Given the description of an element on the screen output the (x, y) to click on. 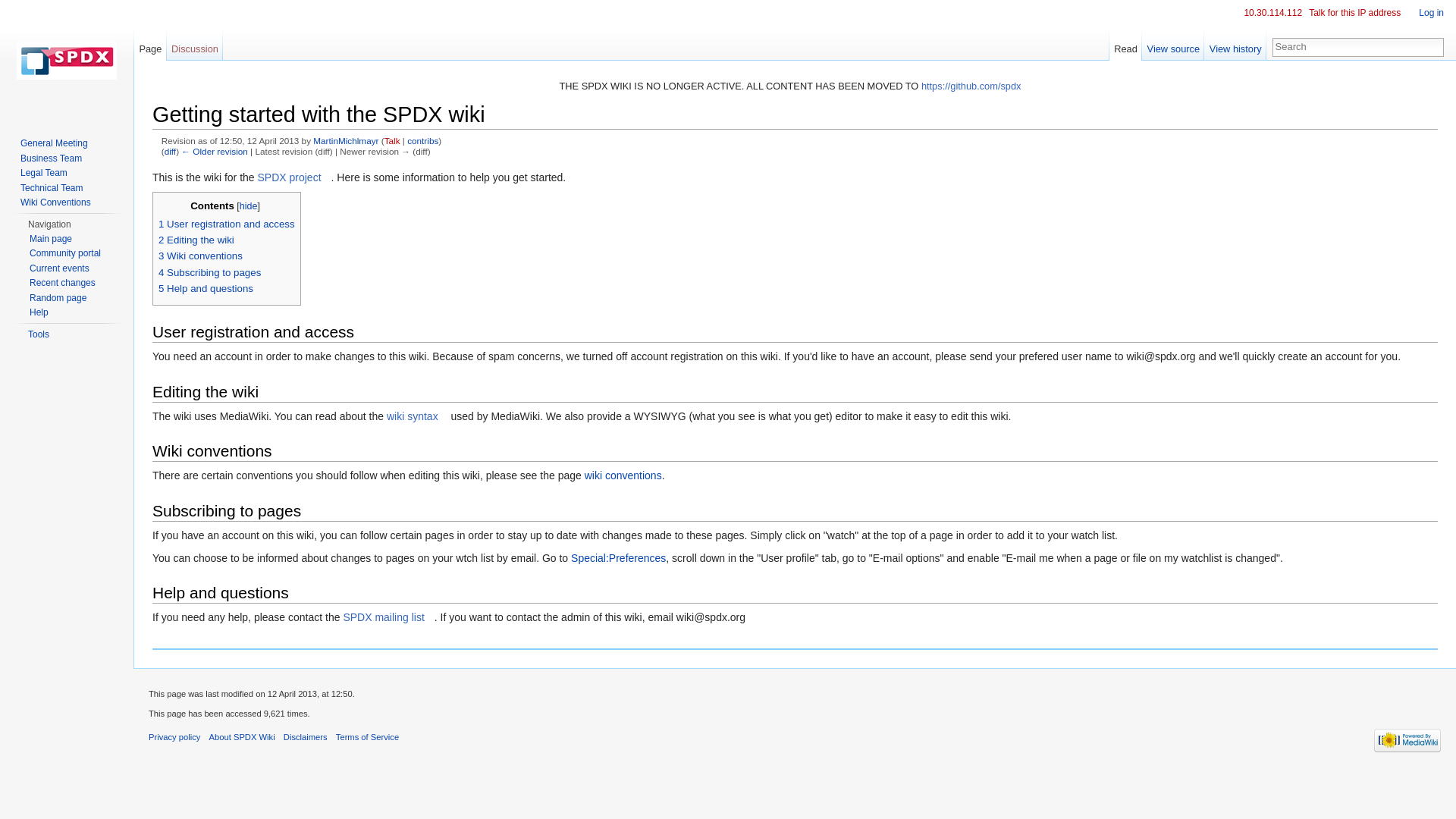
contribs (422, 140)
Visit the main page (66, 60)
Special:Preferences (617, 558)
Legal Team (43, 172)
Talk (392, 140)
View history (1235, 45)
SPDX project (294, 177)
Log in (1431, 12)
Discussion (195, 45)
MartinMichlmayr (345, 140)
